Given the description of an element on the screen output the (x, y) to click on. 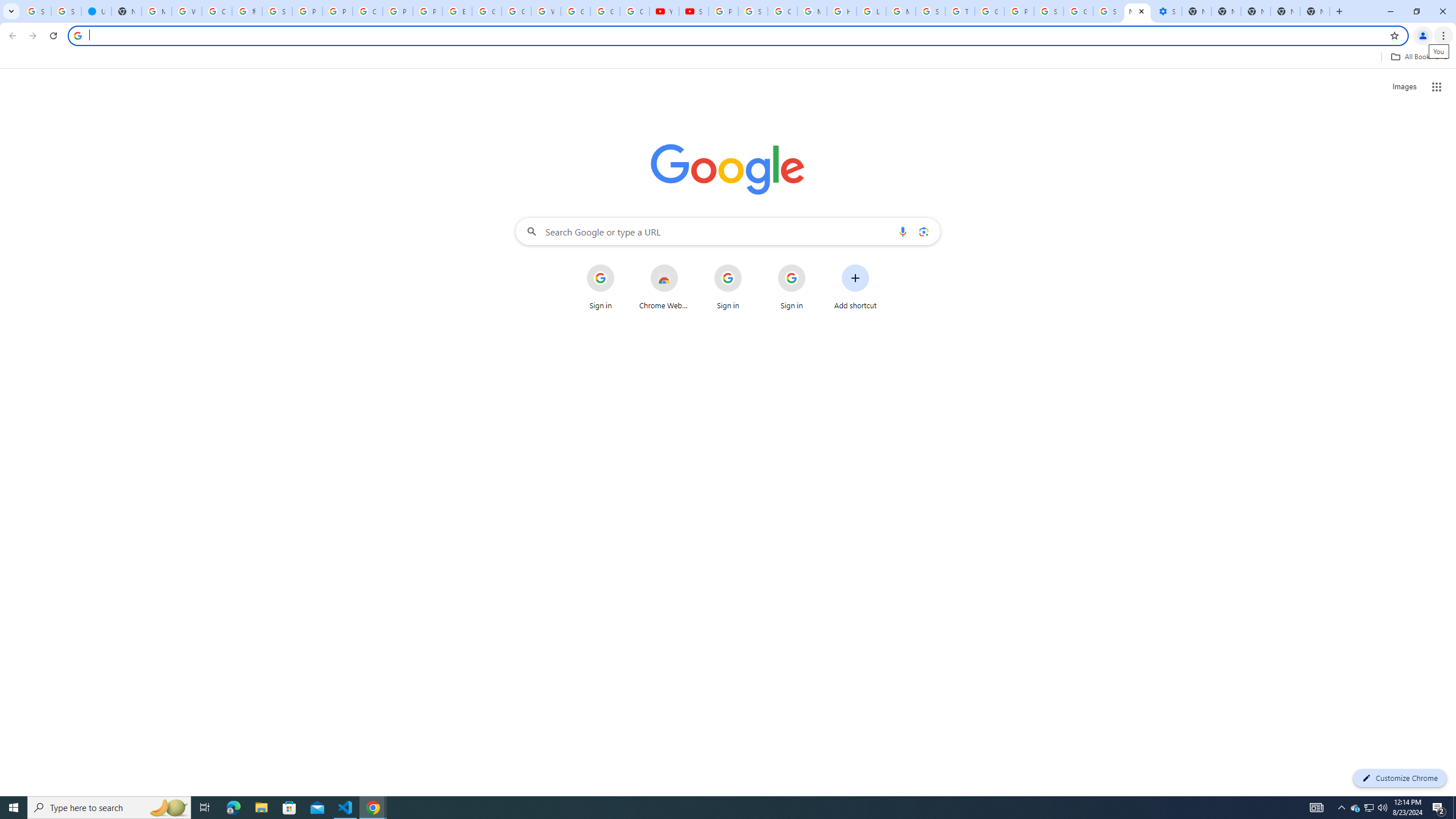
Sign in - Google Accounts (1107, 11)
Sign in - Google Accounts (36, 11)
Sign in - Google Accounts (65, 11)
Google Account (604, 11)
USA TODAY (95, 11)
Create your Google Account (367, 11)
